Given the description of an element on the screen output the (x, y) to click on. 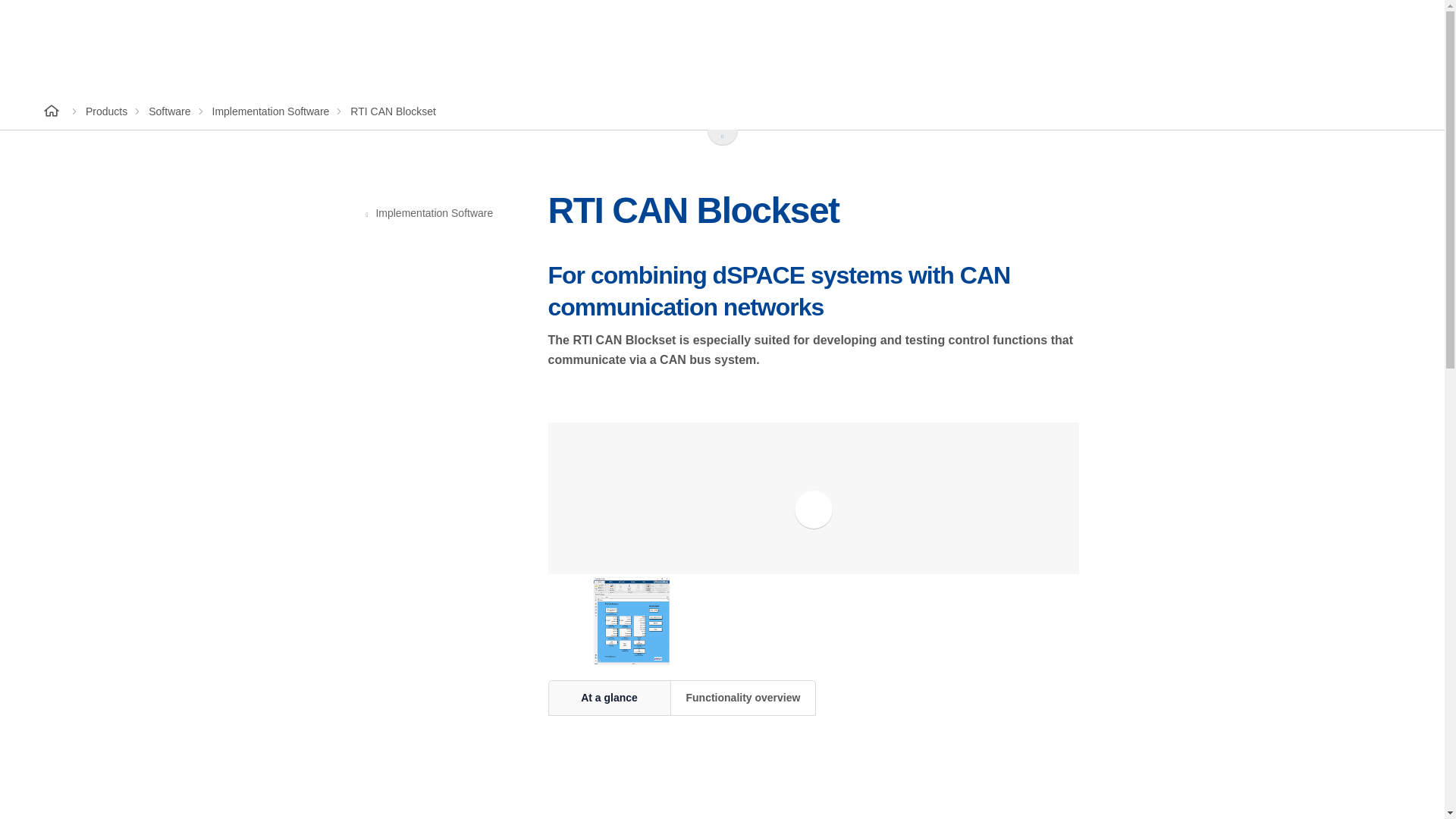
At a glance (608, 697)
RTI CAN Blockset (392, 111)
Implementation Software (271, 111)
Implementation Software (440, 212)
Functionality overview (742, 697)
Software (169, 111)
Products (106, 111)
Home (53, 111)
Implementation Software (440, 212)
